Given the description of an element on the screen output the (x, y) to click on. 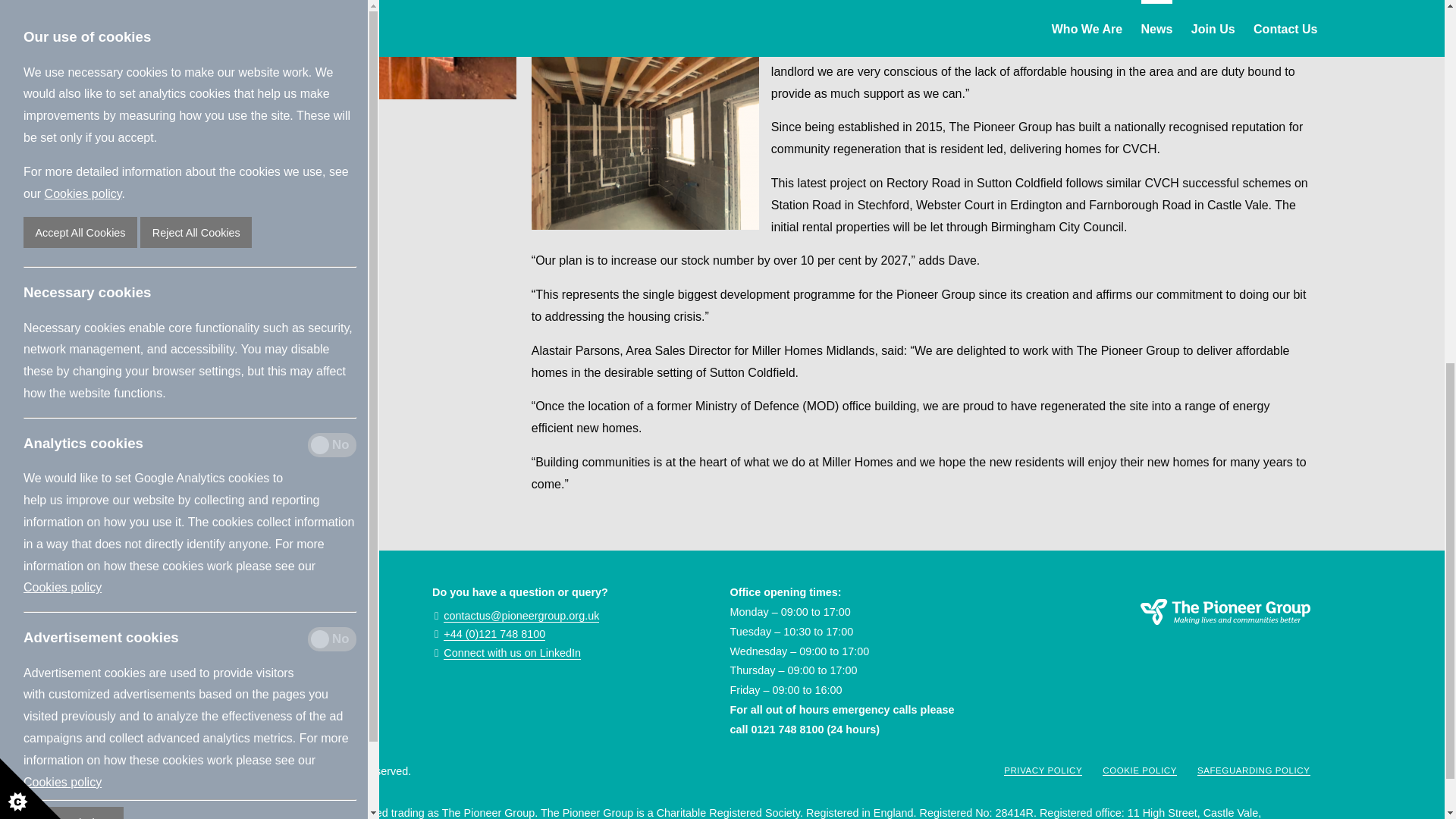
Connect with us on LinkedIn (512, 653)
PRIVACY POLICY (1042, 770)
Cookie Control Icon (30, 93)
The Pioneer Group (1168, 630)
SAFEGUARDING POLICY (1253, 770)
Save and Close (73, 127)
Cookies policy (62, 87)
COOKIE POLICY (1139, 770)
Cookie Control Icon (30, 93)
